Given the description of an element on the screen output the (x, y) to click on. 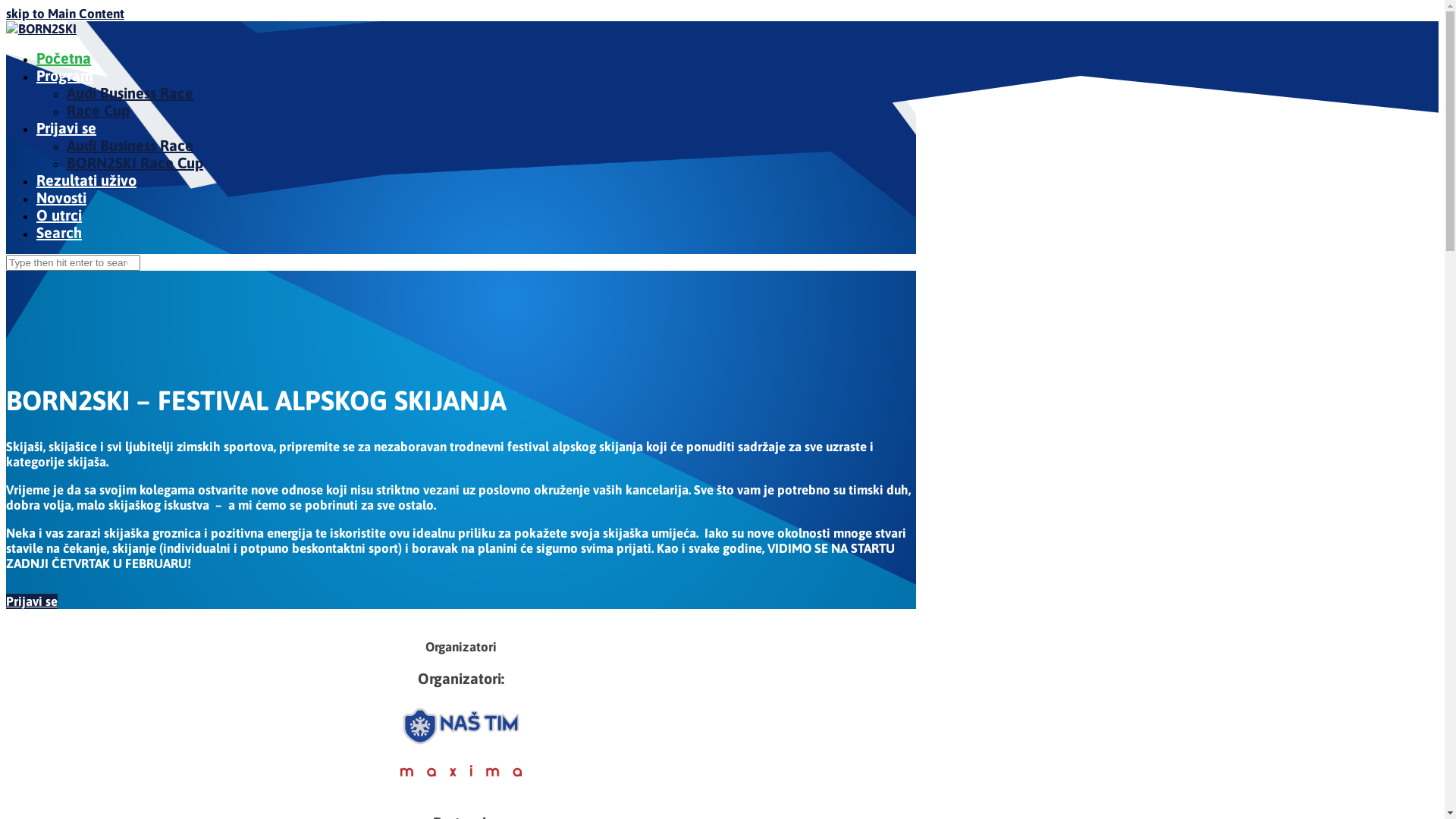
Prijavi se Element type: text (66, 127)
Audi Business Race Element type: text (129, 144)
skip to Main Content Element type: text (65, 13)
BORN2SKI Element type: hover (41, 28)
Race Cup Element type: text (97, 110)
Prijavi se Element type: text (31, 600)
Audi Business Race Element type: text (129, 92)
Novosti Element type: text (61, 197)
Program Element type: text (64, 75)
O utrci Element type: text (58, 214)
BORN2SKI Race Cup Element type: text (134, 162)
Search Element type: text (58, 232)
